Given the description of an element on the screen output the (x, y) to click on. 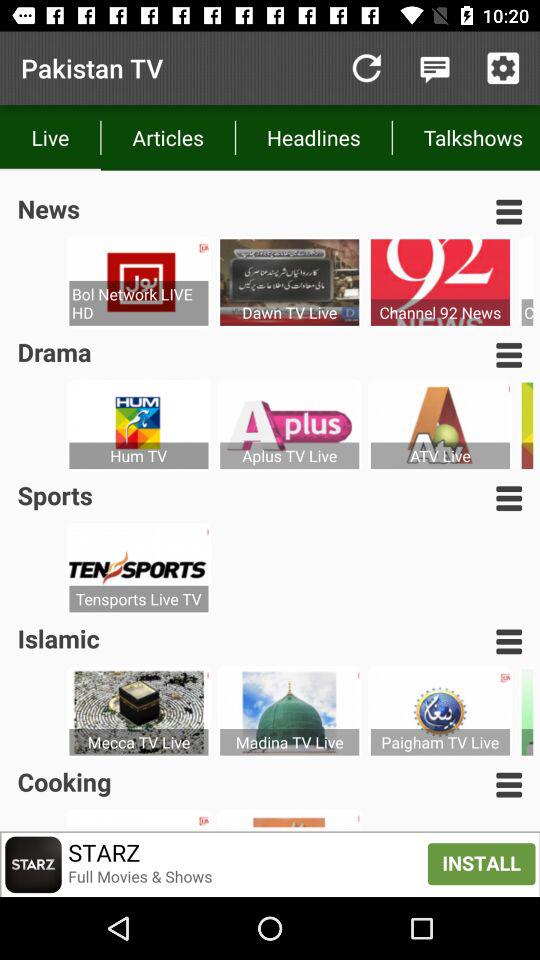
refresh screen (366, 67)
